Given the description of an element on the screen output the (x, y) to click on. 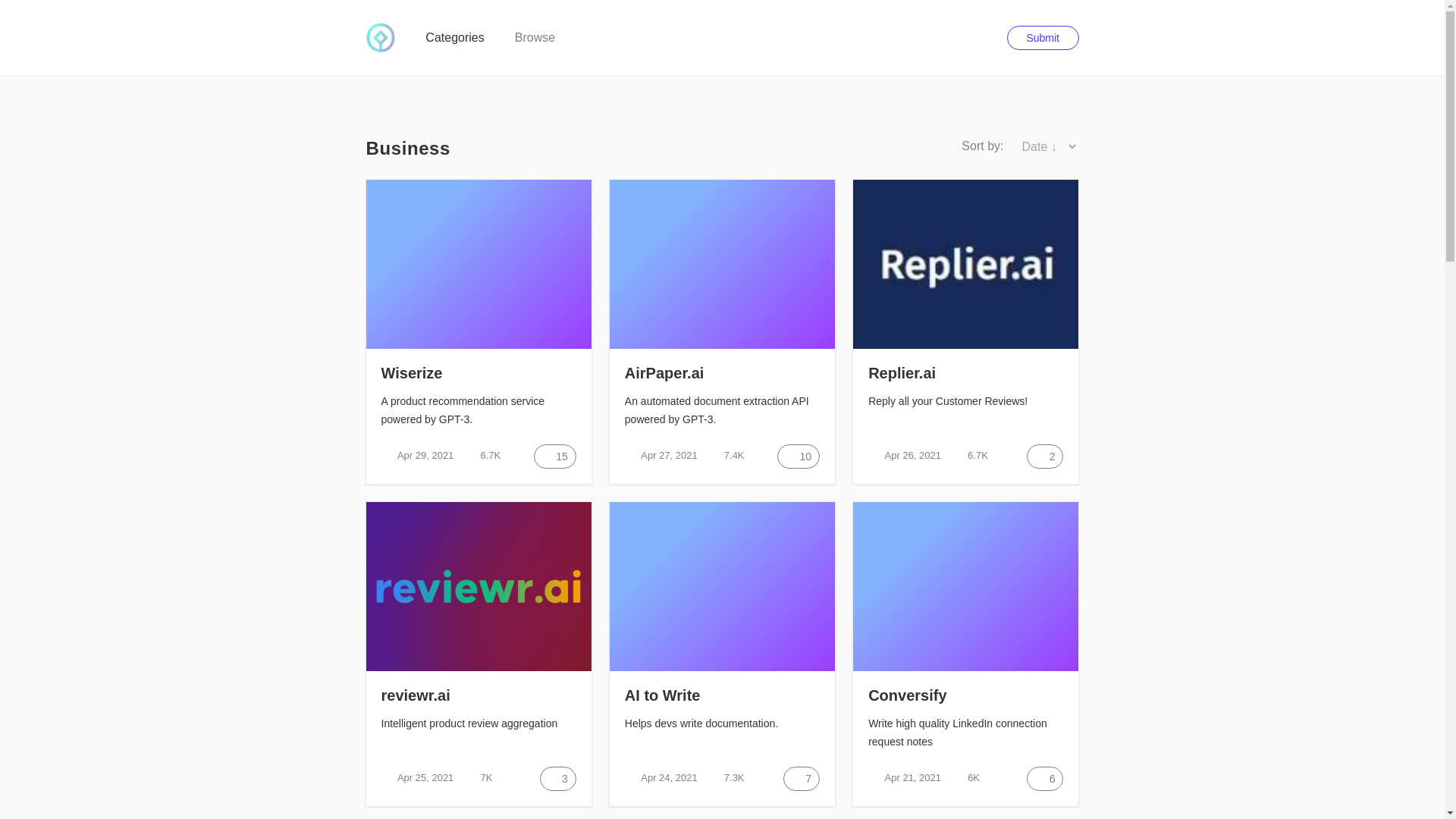
Upvote (1044, 456)
Published: 27 April 2021 (660, 455)
Browse (534, 37)
Published: 25 April 2021 (416, 777)
Views (477, 777)
Submit (1042, 37)
Views (969, 455)
Categories (454, 37)
Search (983, 37)
Views (725, 455)
Upvote (555, 456)
Upvote (558, 777)
Published: 29 April 2021 (416, 455)
Upvote (798, 456)
Views (481, 455)
